Given the description of an element on the screen output the (x, y) to click on. 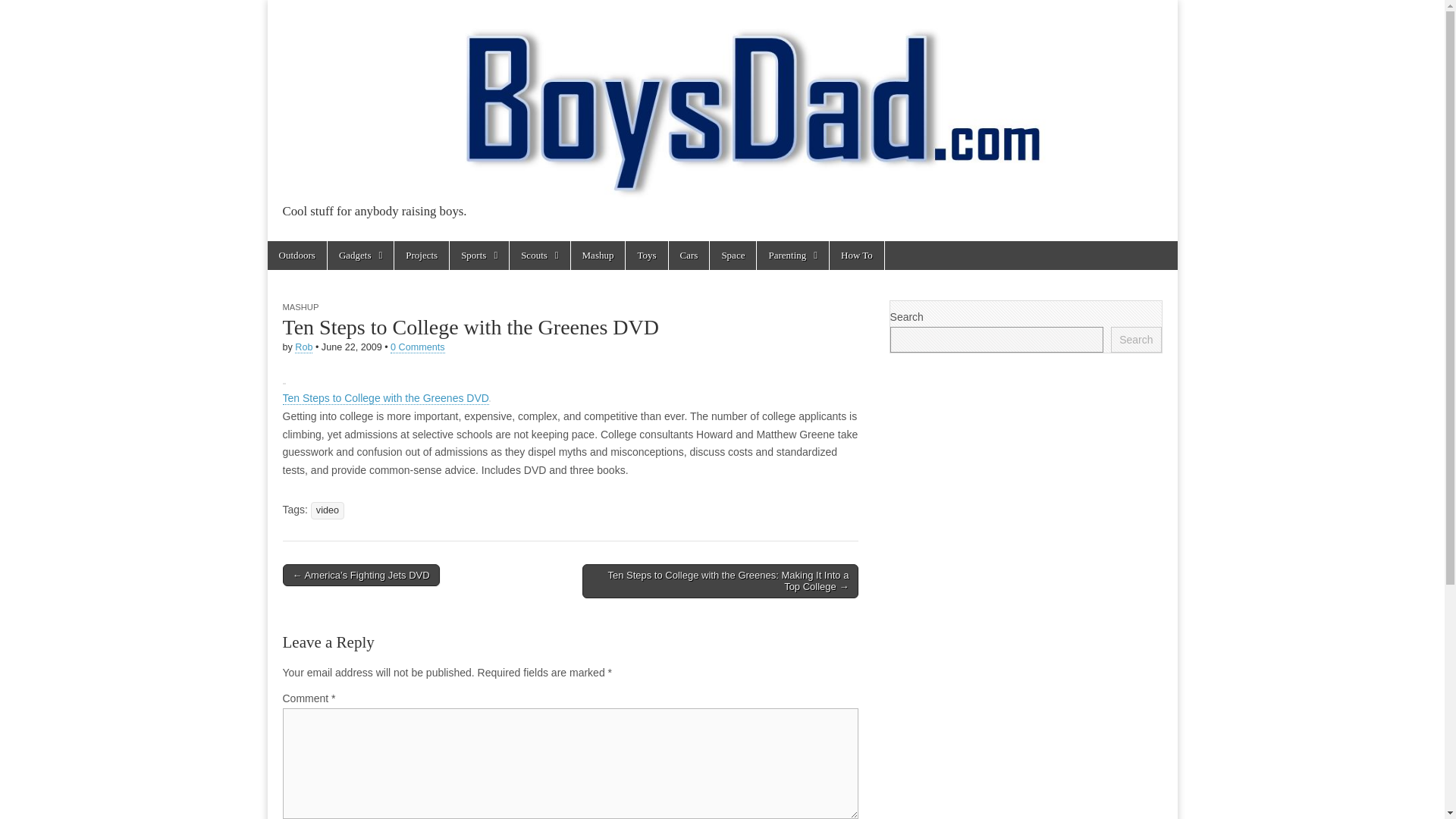
Toys (646, 255)
Space (732, 255)
Posts by Rob (304, 347)
How To (856, 255)
Search (1135, 339)
video (327, 510)
Ten Steps to College with the Greenes DVD (384, 398)
0 Comments (417, 347)
Projects (421, 255)
Mashup (598, 255)
Scouts (539, 255)
Sports (478, 255)
